Given the description of an element on the screen output the (x, y) to click on. 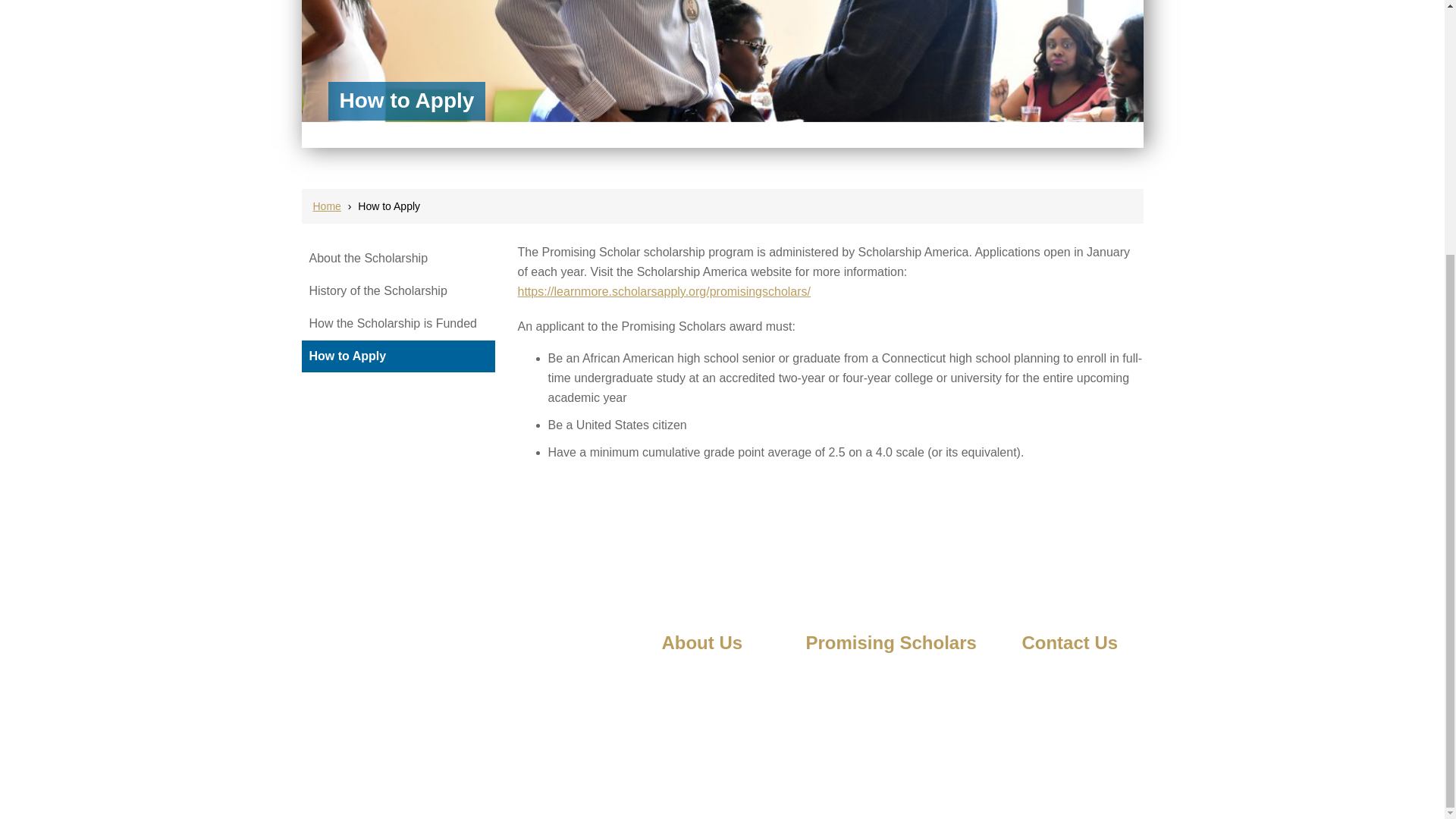
Officers (679, 697)
About the Scholarship (856, 674)
How the Scholarship is Funded (392, 323)
Sigma Pi Phi (691, 720)
Contact Us (1048, 674)
What is Beta Tau Boule? (719, 674)
About the Scholarship (368, 257)
History of the Scholarship (865, 697)
How to Apply (836, 743)
History of the Scholarship (377, 290)
